Given the description of an element on the screen output the (x, y) to click on. 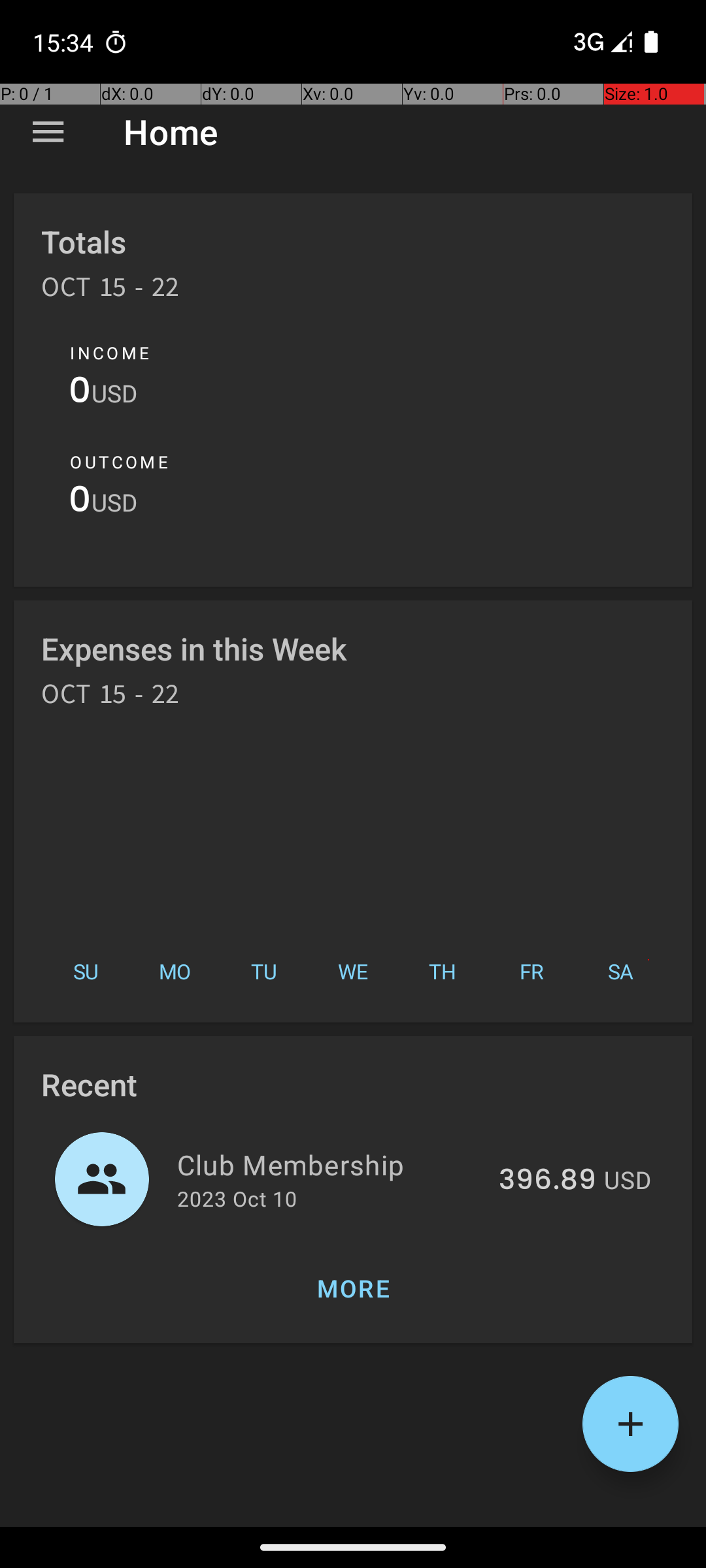
Club Membership Element type: android.widget.TextView (330, 1164)
396.89 Element type: android.widget.TextView (547, 1180)
